Given the description of an element on the screen output the (x, y) to click on. 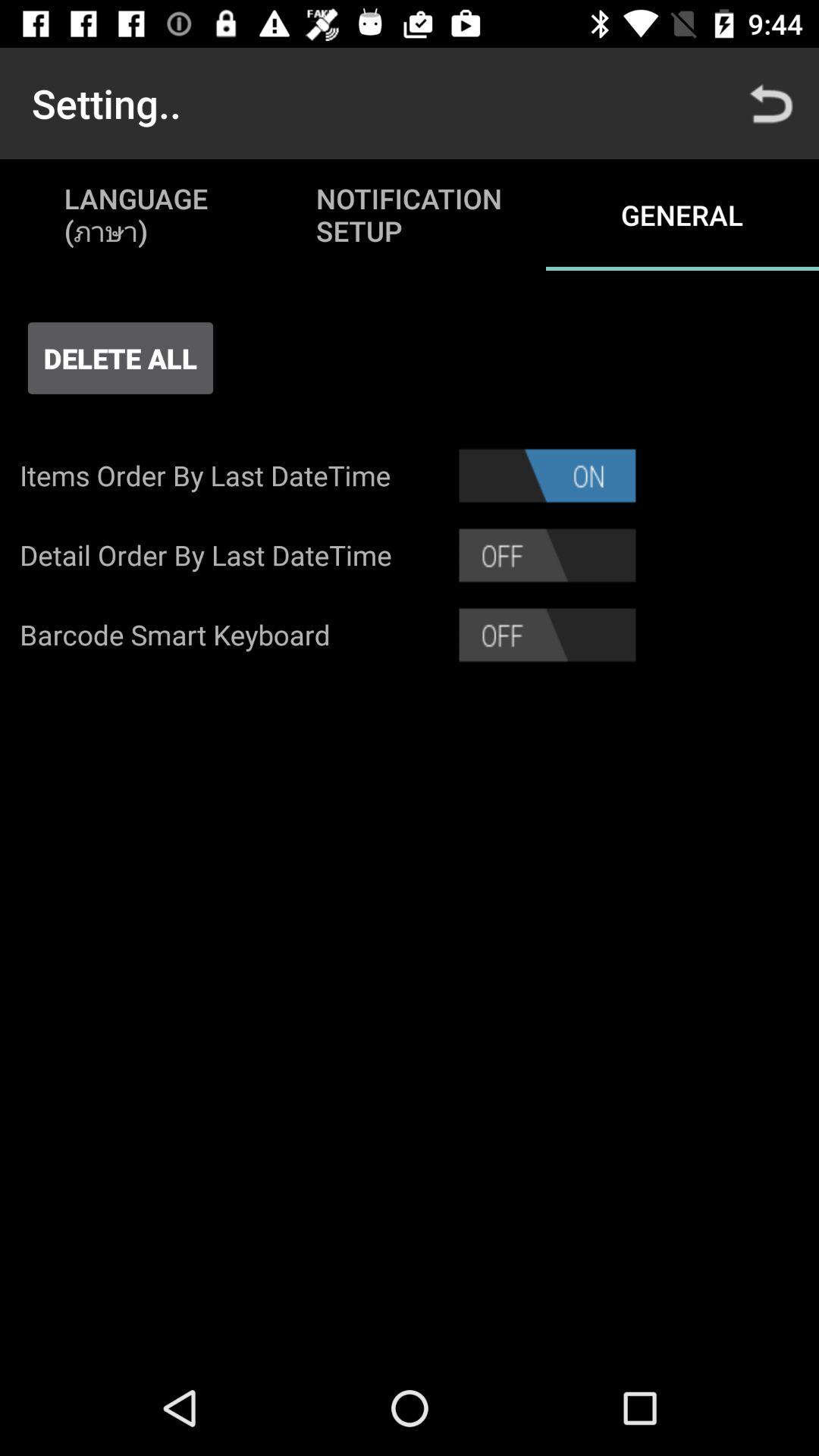
turn off the item to the right of items order by item (547, 475)
